Given the description of an element on the screen output the (x, y) to click on. 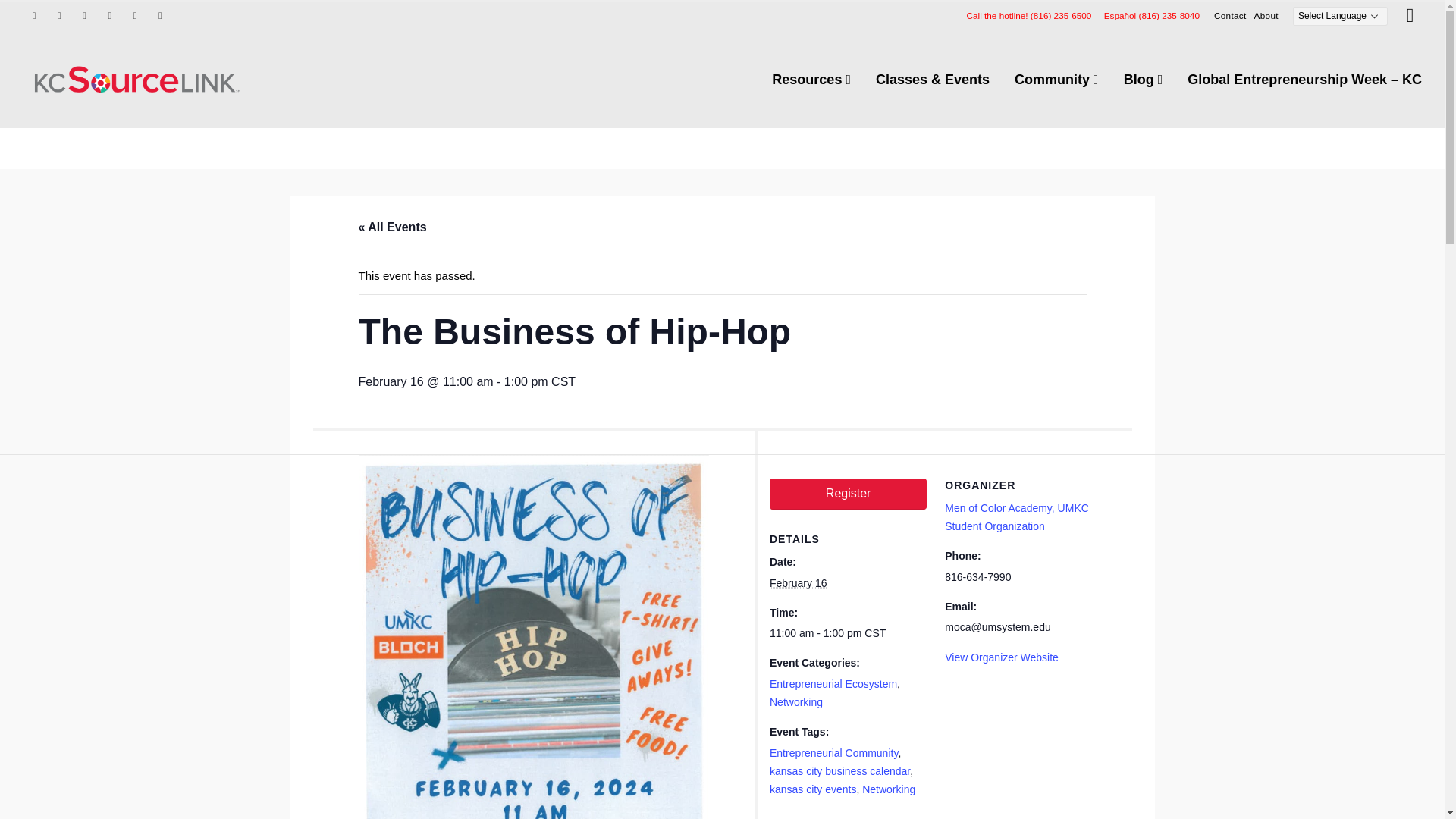
RSS (85, 15)
Blog (1143, 79)
Pinterest (109, 15)
Twitter (58, 15)
LinkedIn (159, 15)
2024-02-16 (798, 582)
Contact (1229, 15)
Facebook (34, 15)
Resources (811, 79)
KCSourceLink -  (136, 78)
About (1266, 15)
Community (1056, 79)
Instagram (134, 15)
